Given the description of an element on the screen output the (x, y) to click on. 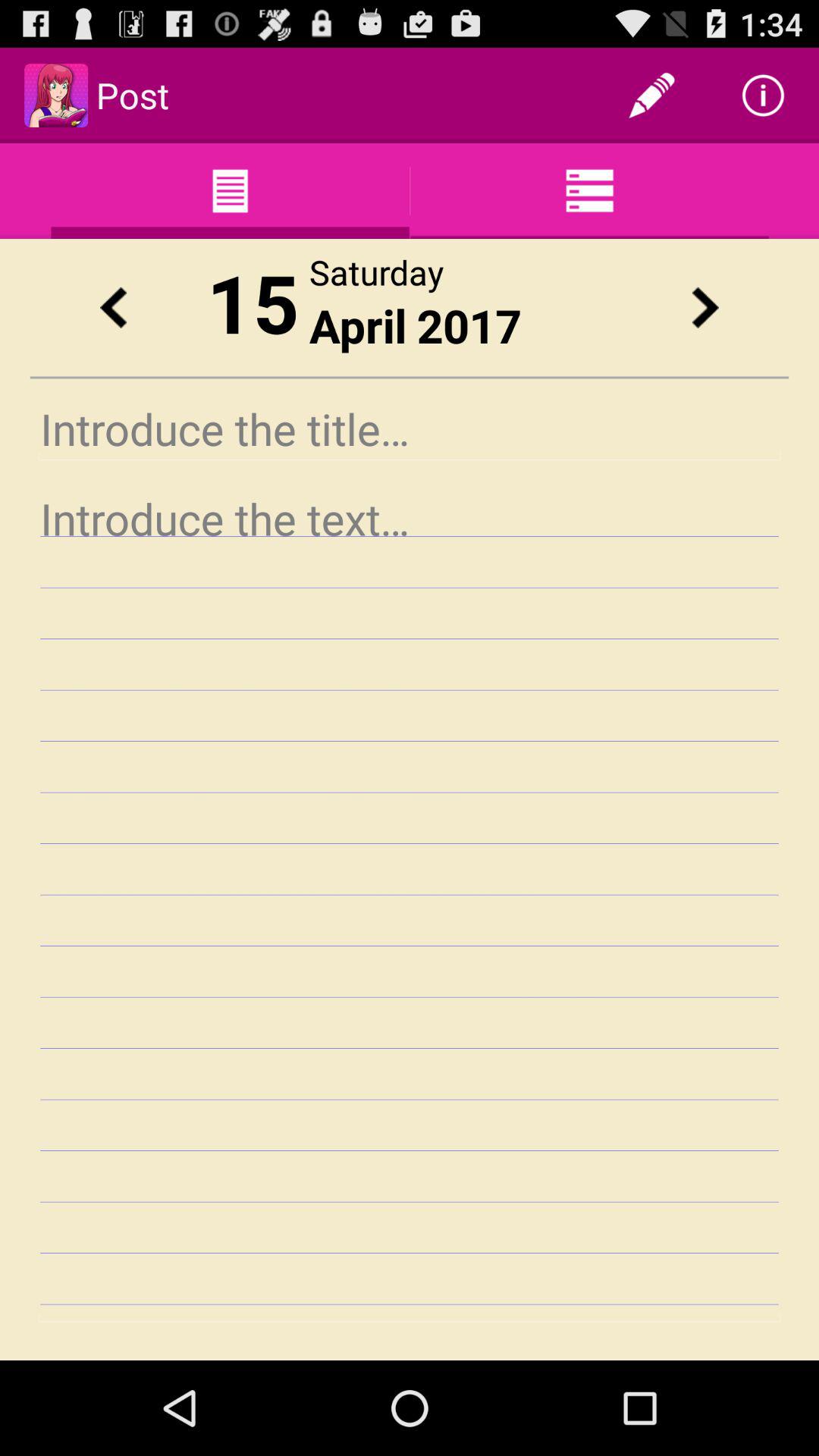
write text (409, 904)
